Given the description of an element on the screen output the (x, y) to click on. 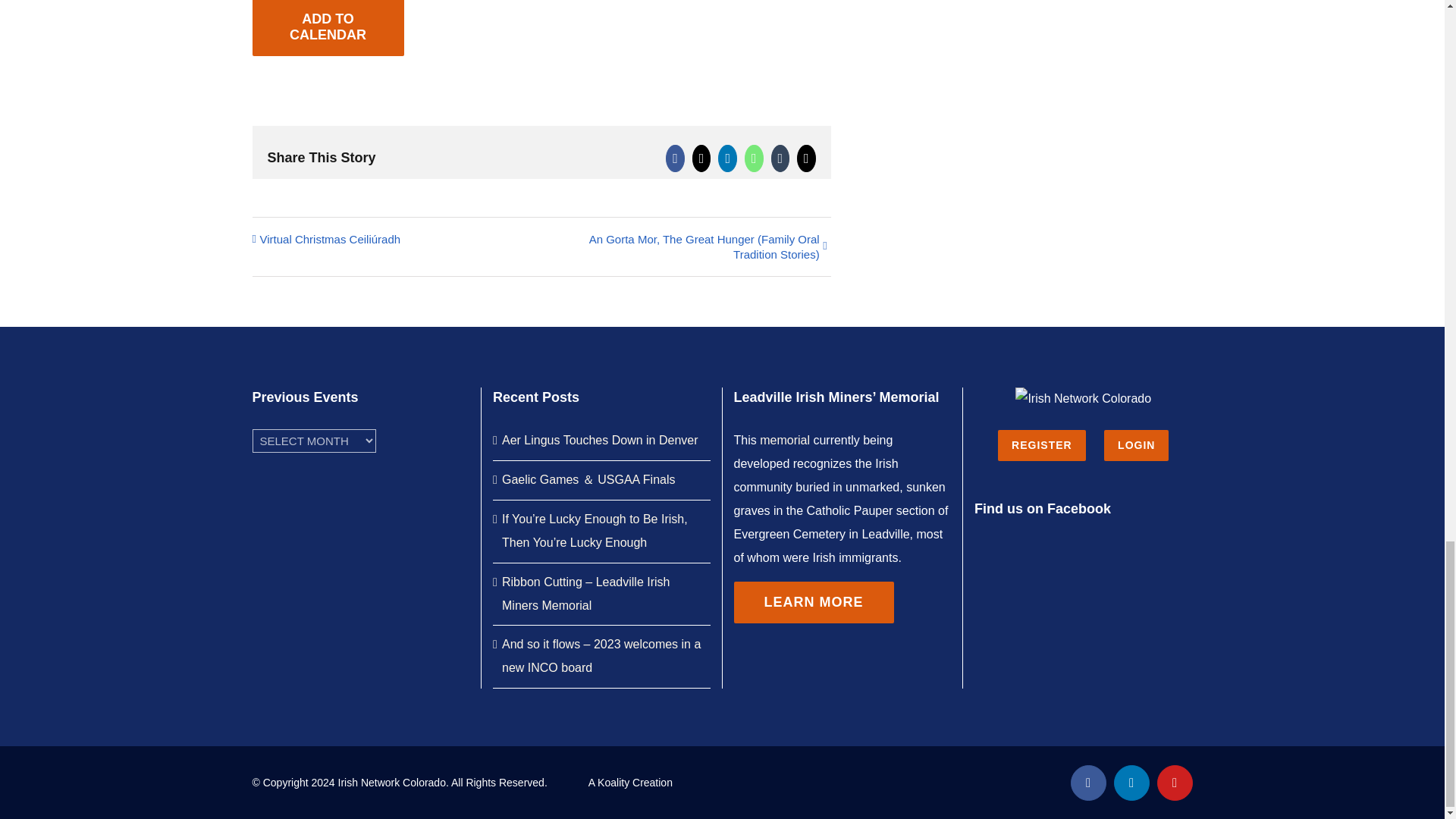
memorial (784, 440)
YouTube (1174, 782)
LinkedIn (1130, 782)
LinkedIn (1130, 782)
LOGIN (1136, 445)
REGISTER (1041, 445)
Facebook (1088, 782)
A Koality Creation (630, 782)
Aer Lingus Touches Down in Denver (602, 440)
ADD TO CALENDAR (327, 27)
